Given the description of an element on the screen output the (x, y) to click on. 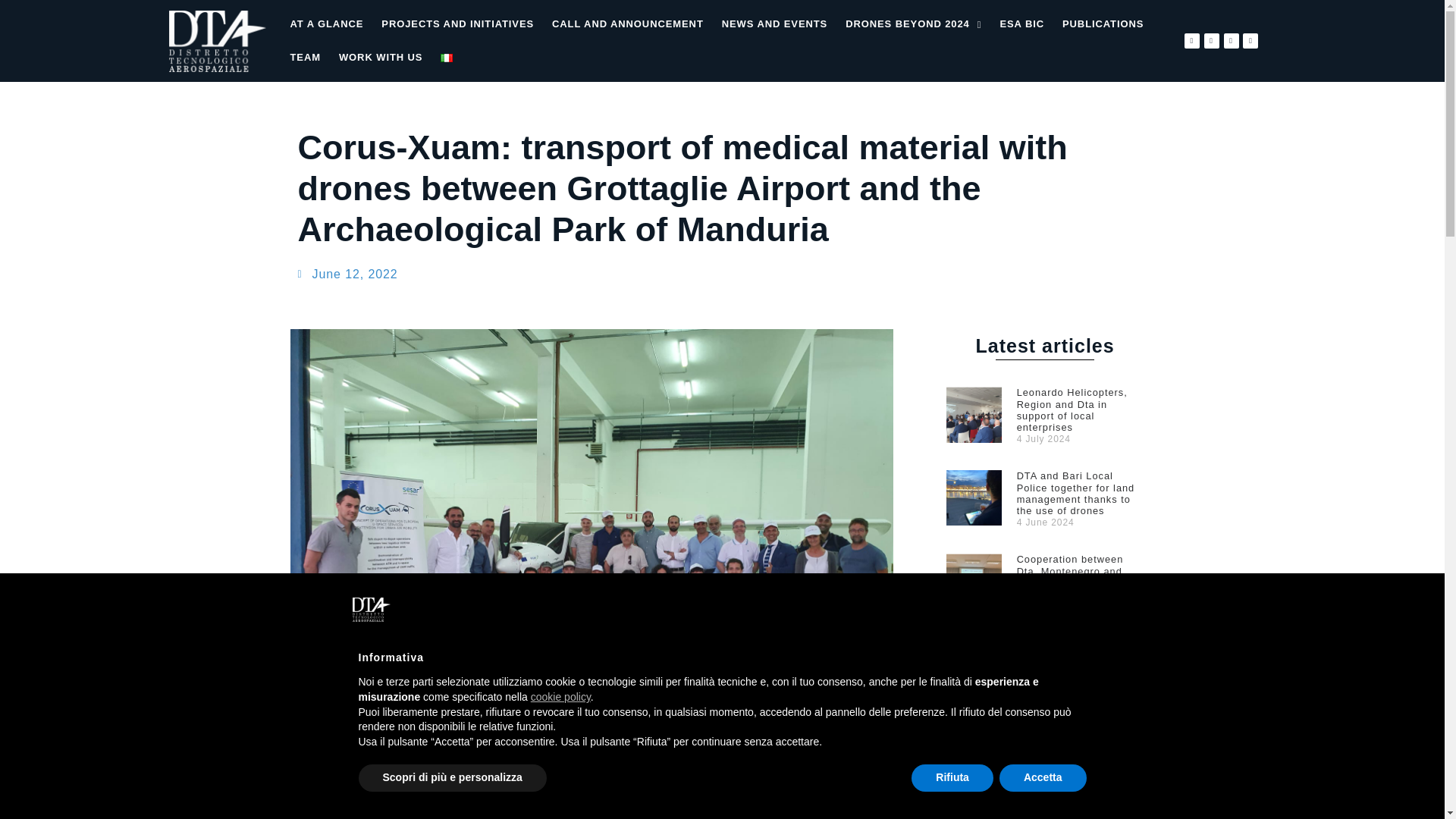
TEAM (305, 57)
PROJECTS AND INITIATIVES (457, 23)
DRONES BEYOND 2024 (912, 23)
ESA BIC (1021, 23)
June 12, 2022 (347, 274)
PUBLICATIONS (1102, 23)
logo-dta (216, 41)
